Given the description of an element on the screen output the (x, y) to click on. 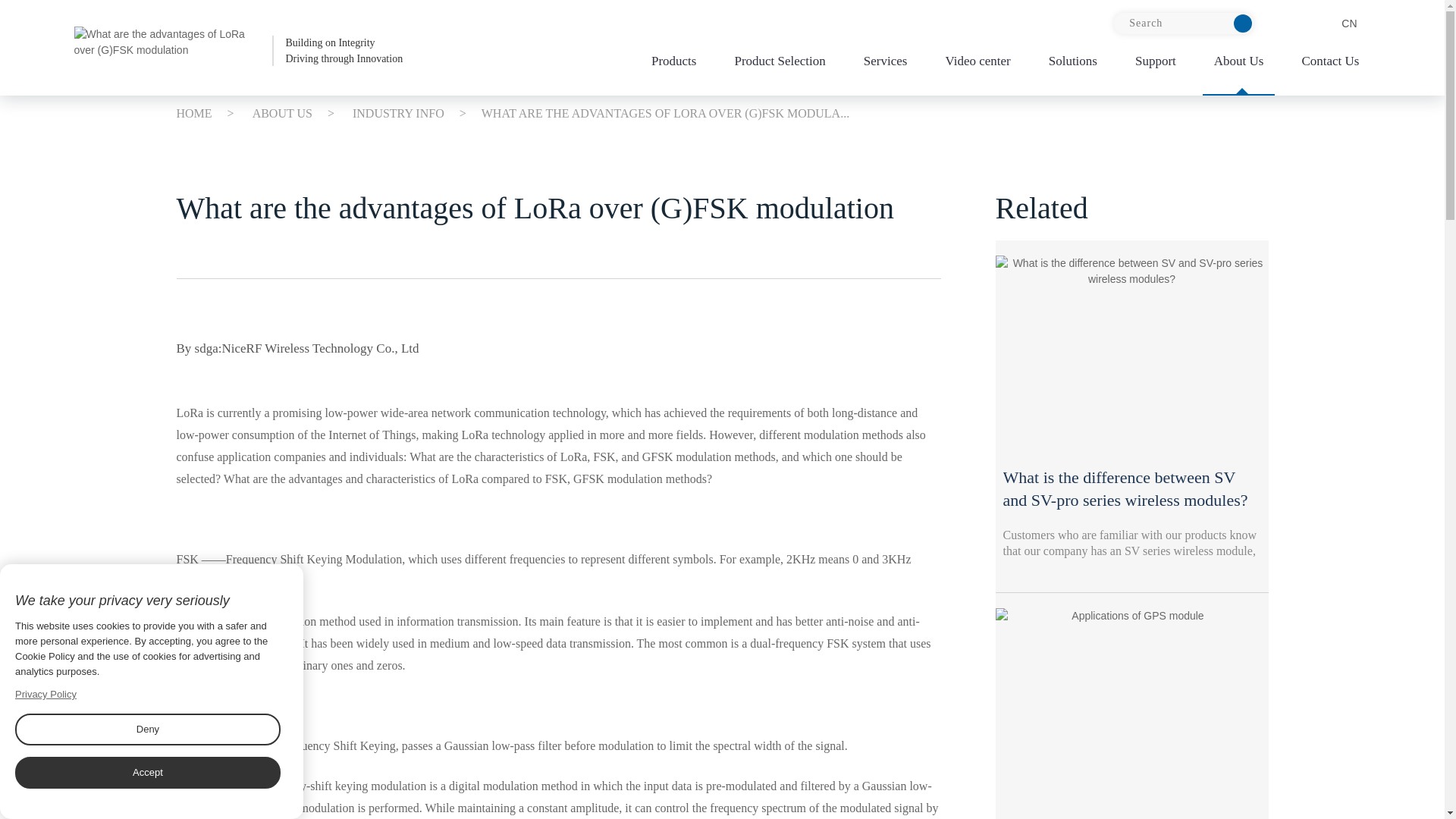
Products (673, 64)
Search (238, 50)
CN (1183, 23)
Products (1333, 23)
